Given the description of an element on the screen output the (x, y) to click on. 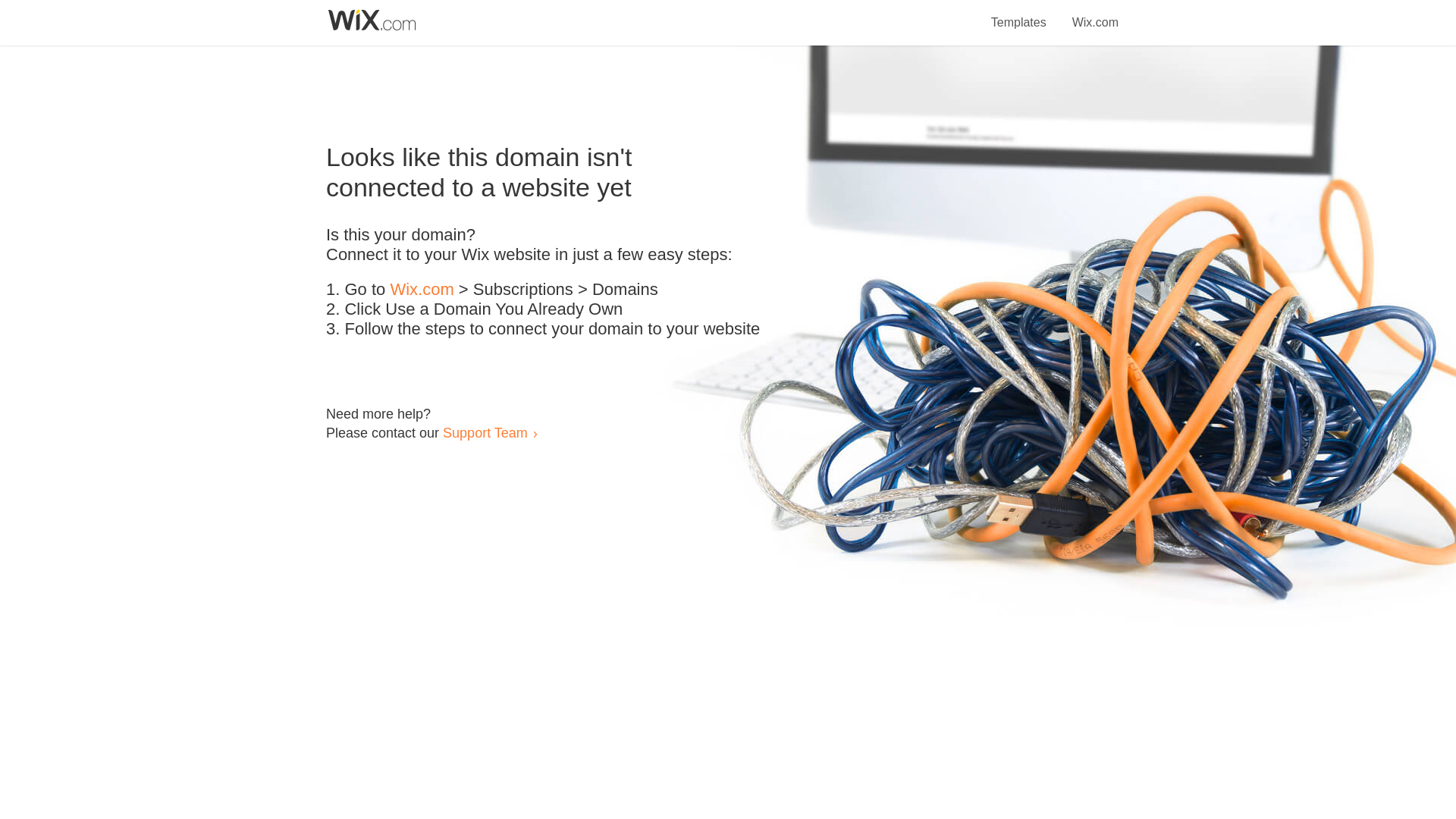
Wix.com (1095, 14)
Templates (1018, 14)
Wix.com (421, 289)
Support Team (484, 432)
